Given the description of an element on the screen output the (x, y) to click on. 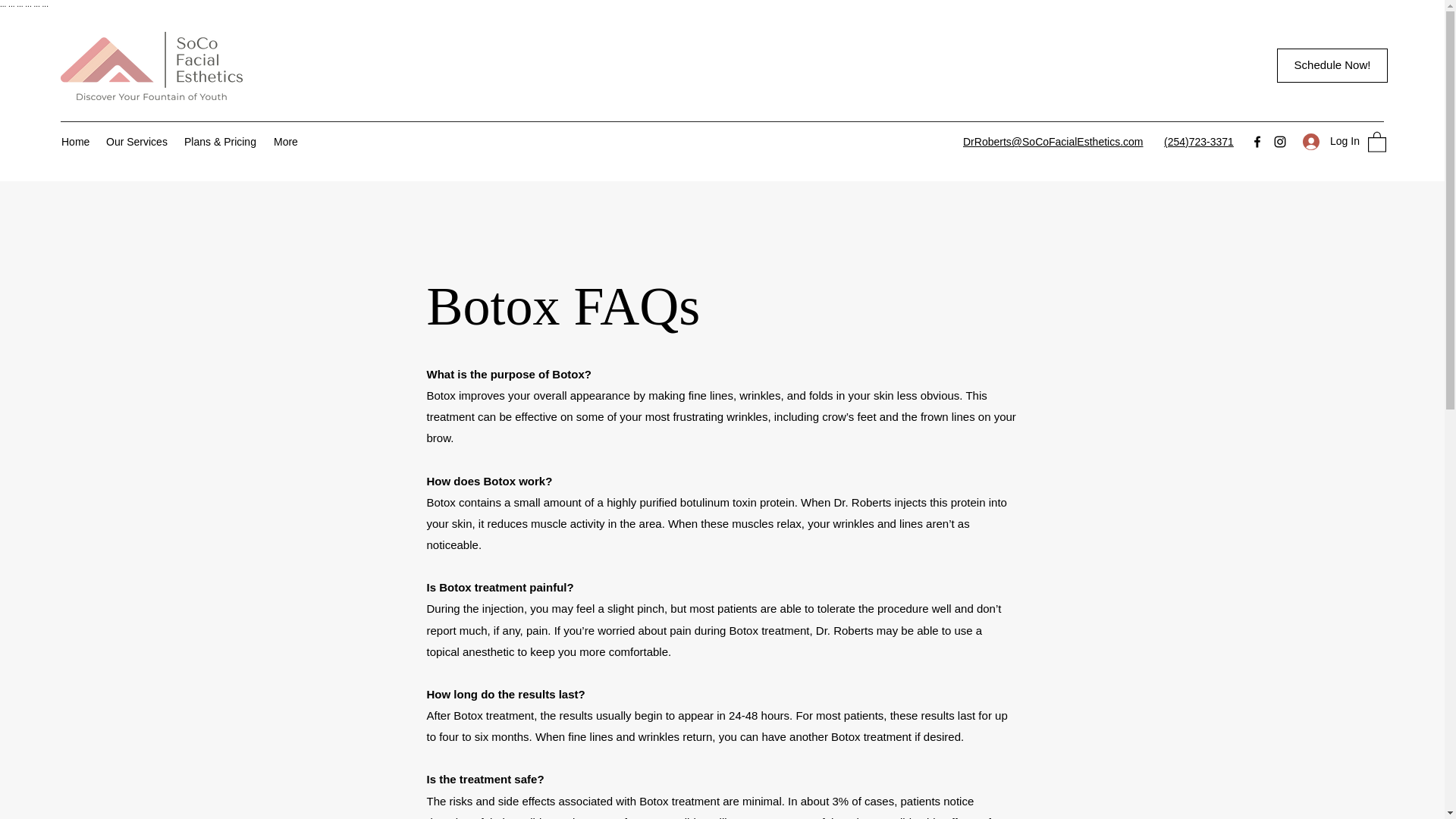
Home (76, 141)
Log In (1325, 141)
Our Services (137, 141)
Schedule Now! (1331, 65)
